Given the description of an element on the screen output the (x, y) to click on. 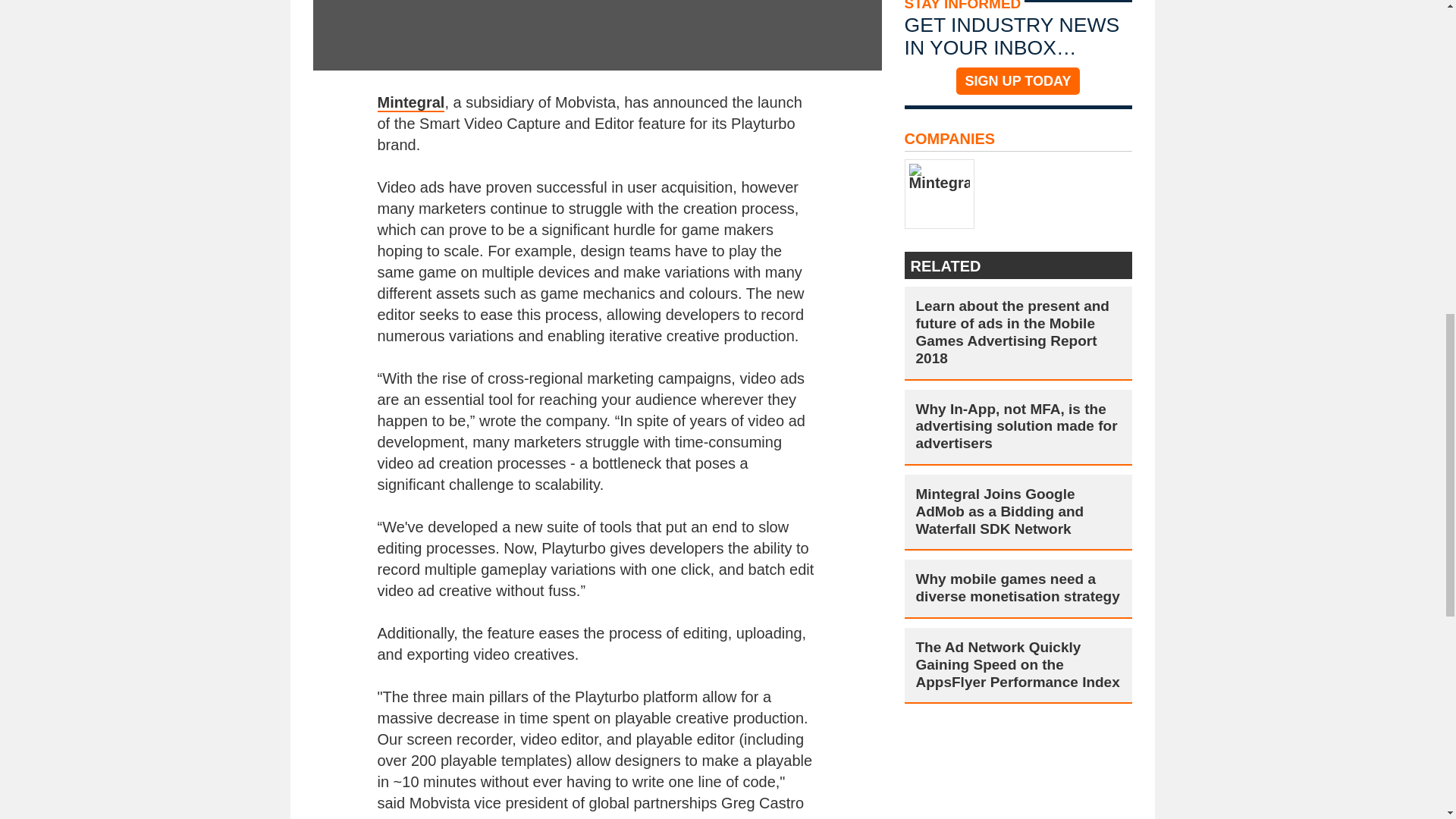
Why mobile games need a diverse monetisation strategy (1017, 588)
Mintegral (411, 103)
